Given the description of an element on the screen output the (x, y) to click on. 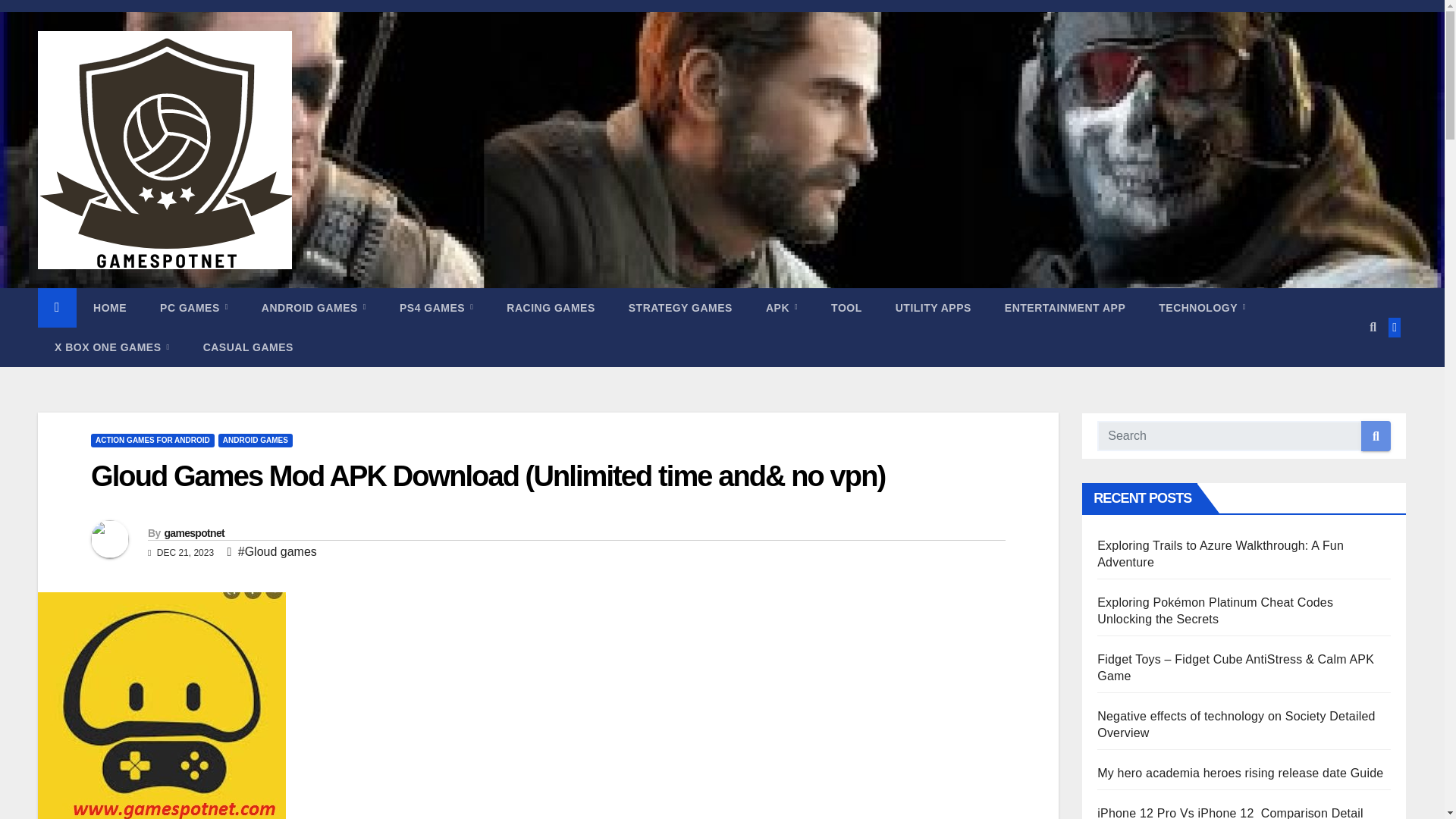
ACTION GAMES FOR ANDROID (152, 440)
PS4 GAMES (435, 307)
ANDROID GAMES (313, 307)
Home (109, 307)
ENTERTAINMENT APP (1064, 307)
X BOX ONE GAMES (111, 346)
Strategy Games (680, 307)
APK (781, 307)
Racing Games (550, 307)
TECHNOLOGY (1201, 307)
CASUAL GAMES (248, 346)
PC GAMES (193, 307)
UTILITY APPS (933, 307)
STRATEGY GAMES (680, 307)
Pc Games (193, 307)
